Given the description of an element on the screen output the (x, y) to click on. 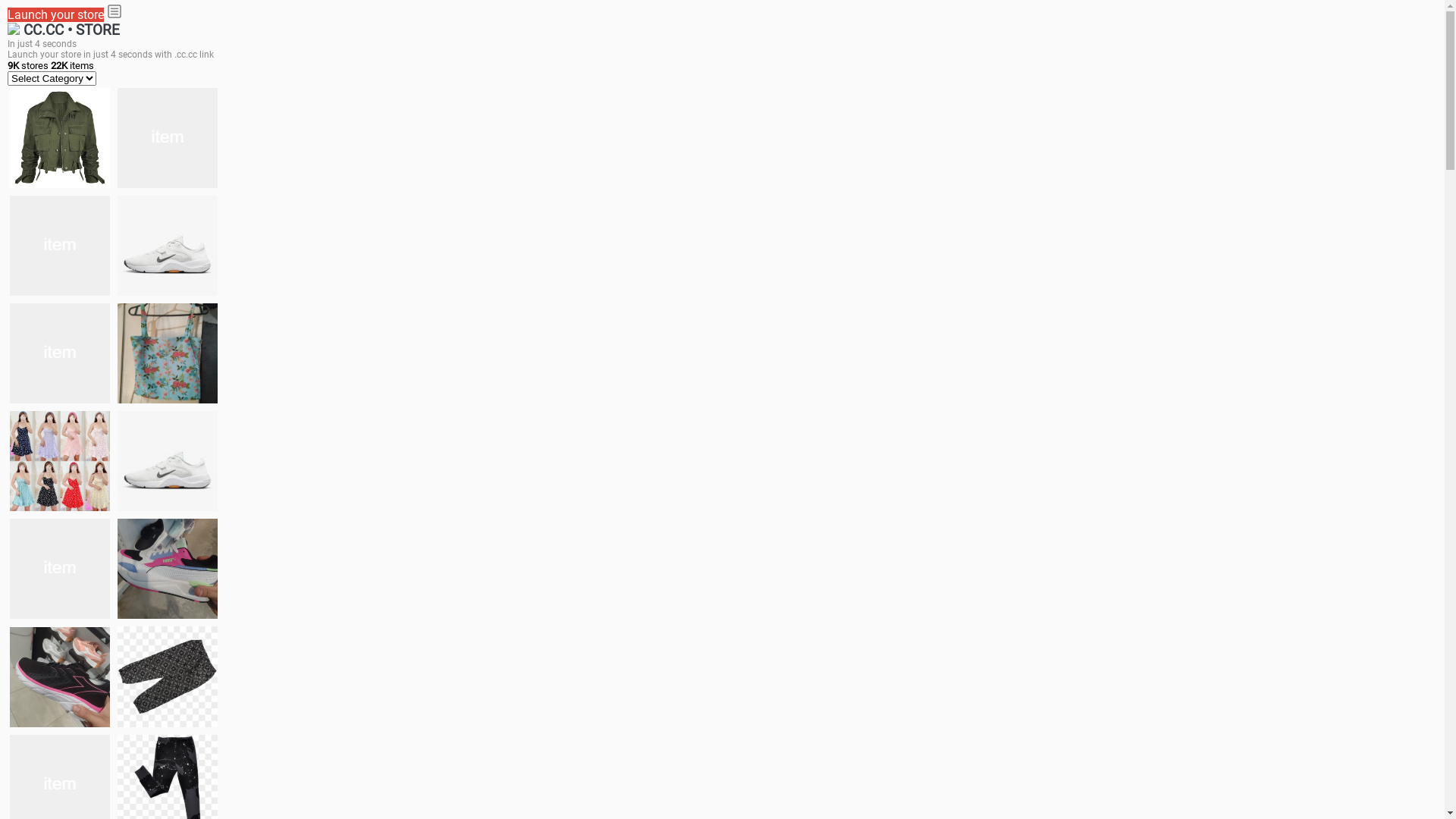
Short pant Element type: hover (167, 676)
Shoes Element type: hover (167, 461)
shoes for boys Element type: hover (59, 245)
Zapatillas Element type: hover (59, 676)
Launch your store Element type: text (55, 14)
Ukay cloth Element type: hover (167, 353)
Shoes for boys Element type: hover (167, 245)
white shoes Element type: hover (167, 137)
jacket Element type: hover (59, 137)
Zapatillas pumas Element type: hover (167, 568)
Dress/square nect top Element type: hover (59, 461)
Things we need Element type: hover (59, 353)
